Given the description of an element on the screen output the (x, y) to click on. 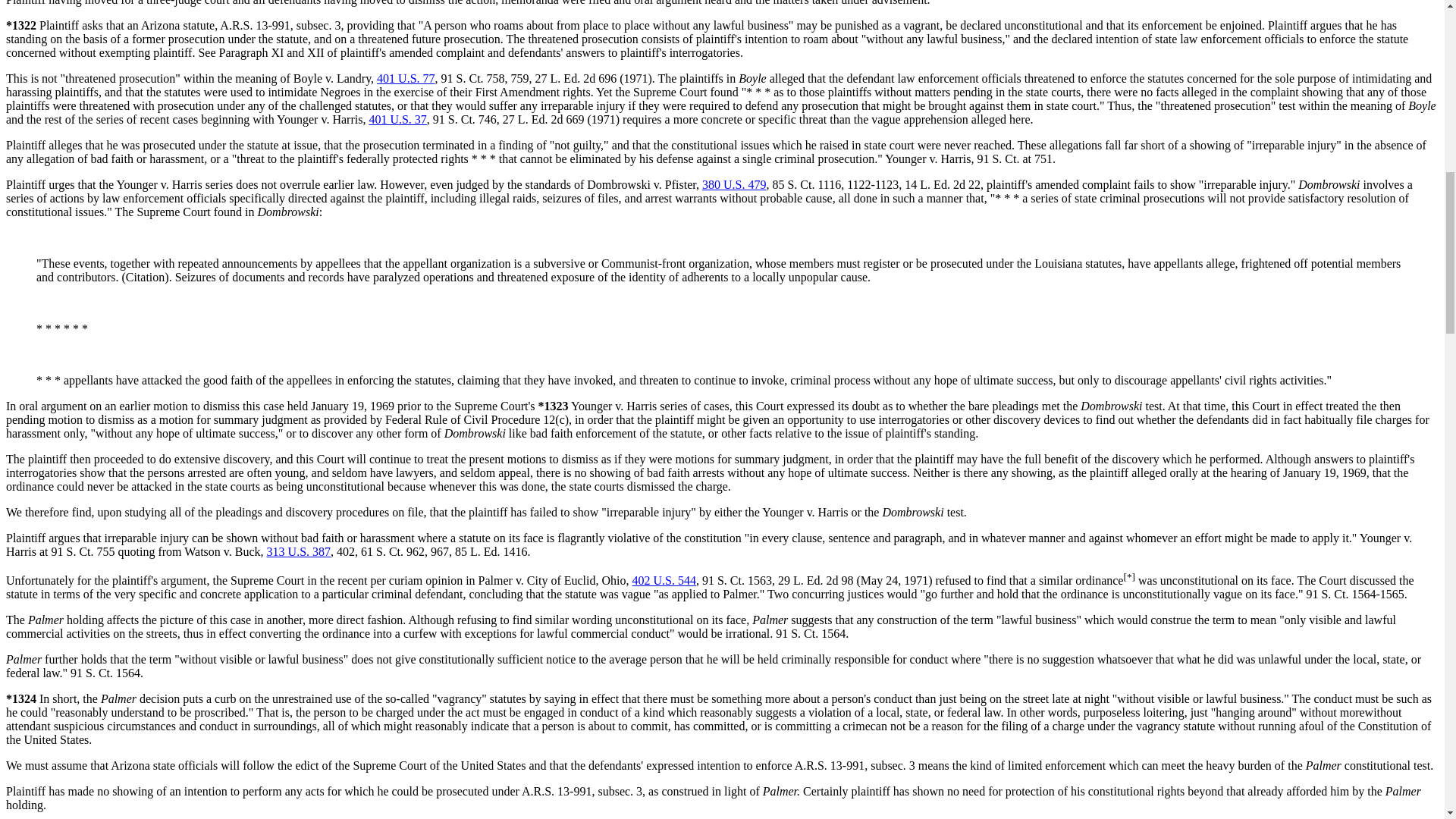
313 U.S. 387 (298, 551)
401 U.S. 37 (397, 119)
401 U.S. 77 (405, 78)
402 U.S. 544 (663, 580)
380 U.S. 479 (733, 184)
